Given the description of an element on the screen output the (x, y) to click on. 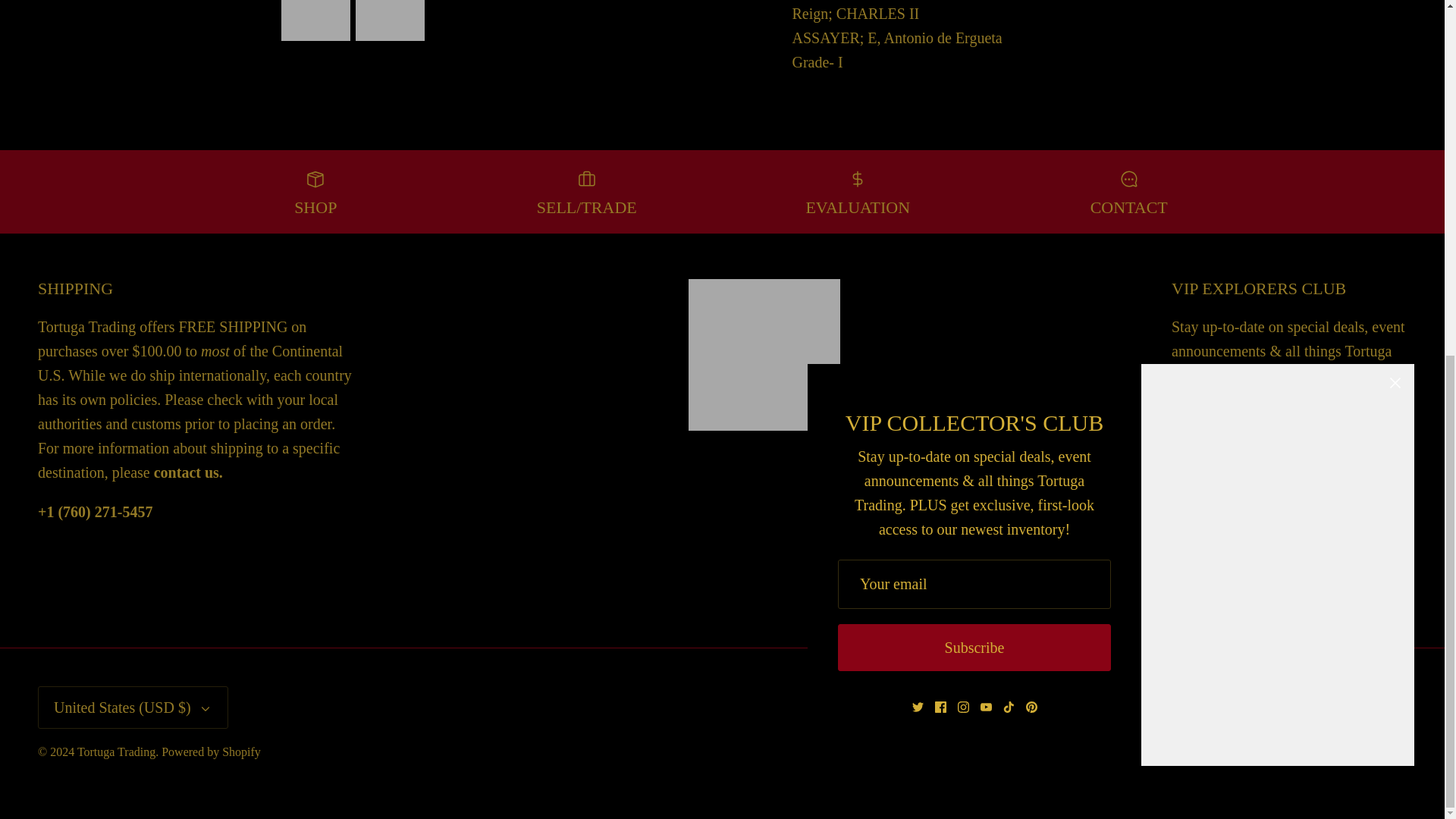
Facebook (1199, 568)
Instagram (1222, 568)
Youtube (1245, 568)
Twitter (1177, 568)
CONTACT (188, 472)
